Given the description of an element on the screen output the (x, y) to click on. 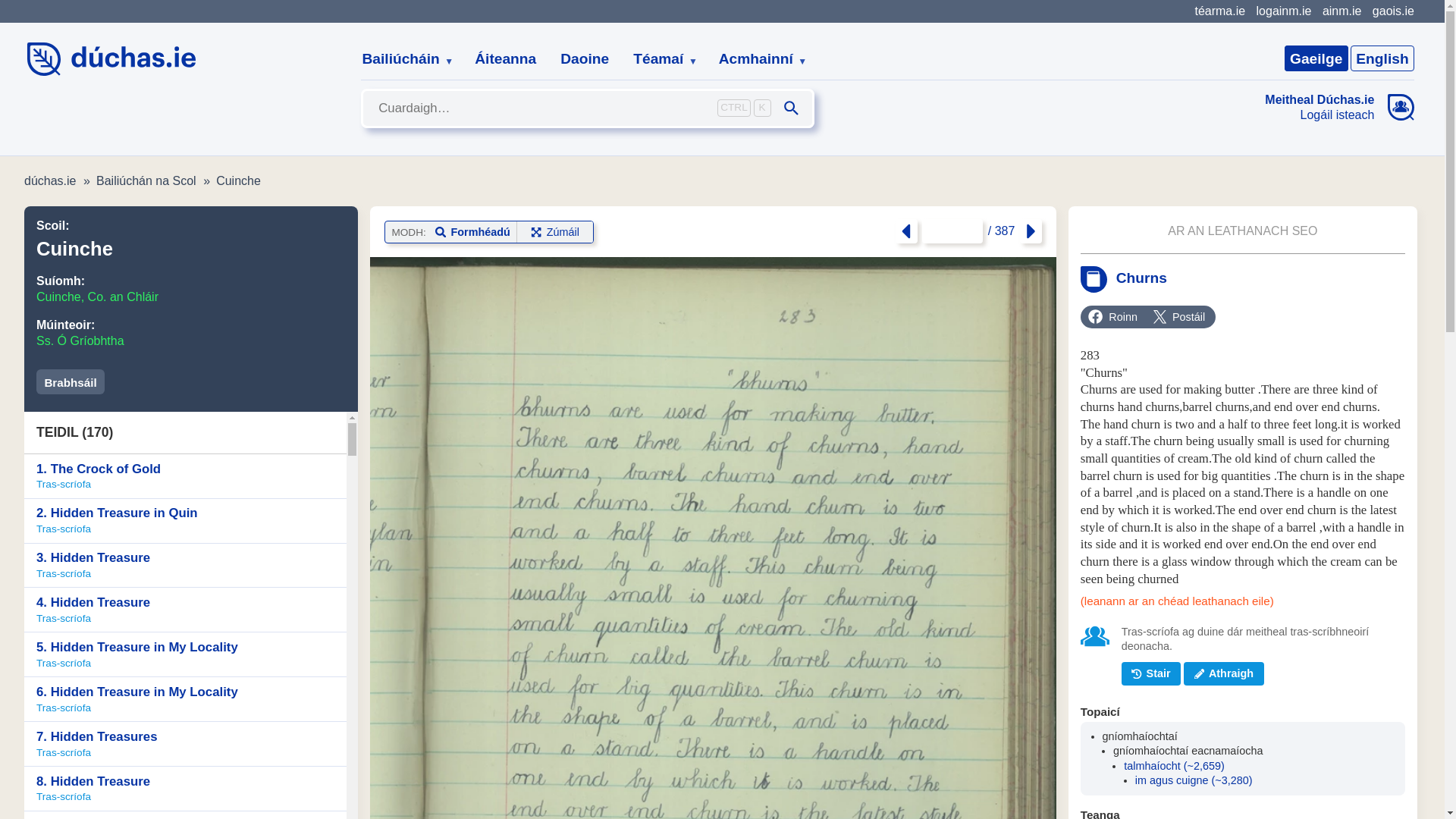
English (1382, 58)
ainm.ie (1341, 11)
Daoine (584, 58)
Gaeilge (1316, 58)
gaois.ie (1393, 11)
logainm.ie (1283, 11)
Cuinche (237, 180)
